Given the description of an element on the screen output the (x, y) to click on. 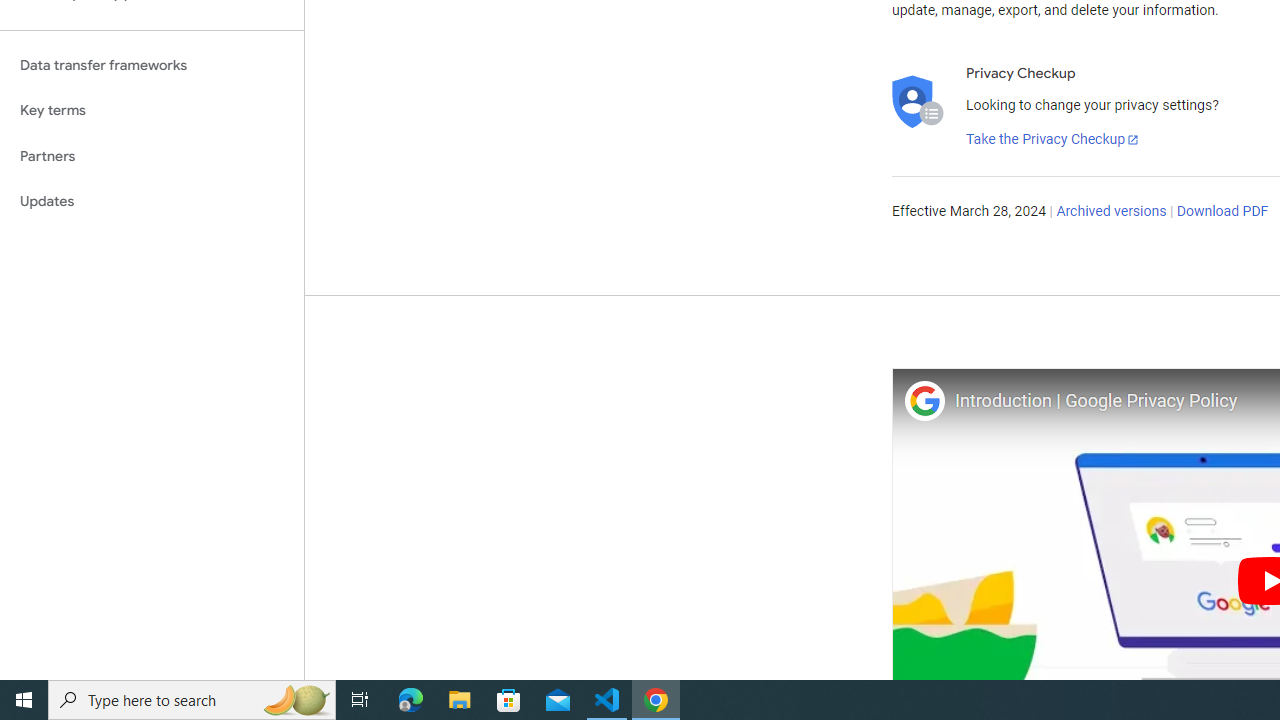
Partners (152, 156)
Data transfer frameworks (152, 65)
Archived versions (1111, 212)
Key terms (152, 110)
Download PDF (1222, 212)
Take the Privacy Checkup (1053, 140)
Photo image of Google (924, 400)
